Given the description of an element on the screen output the (x, y) to click on. 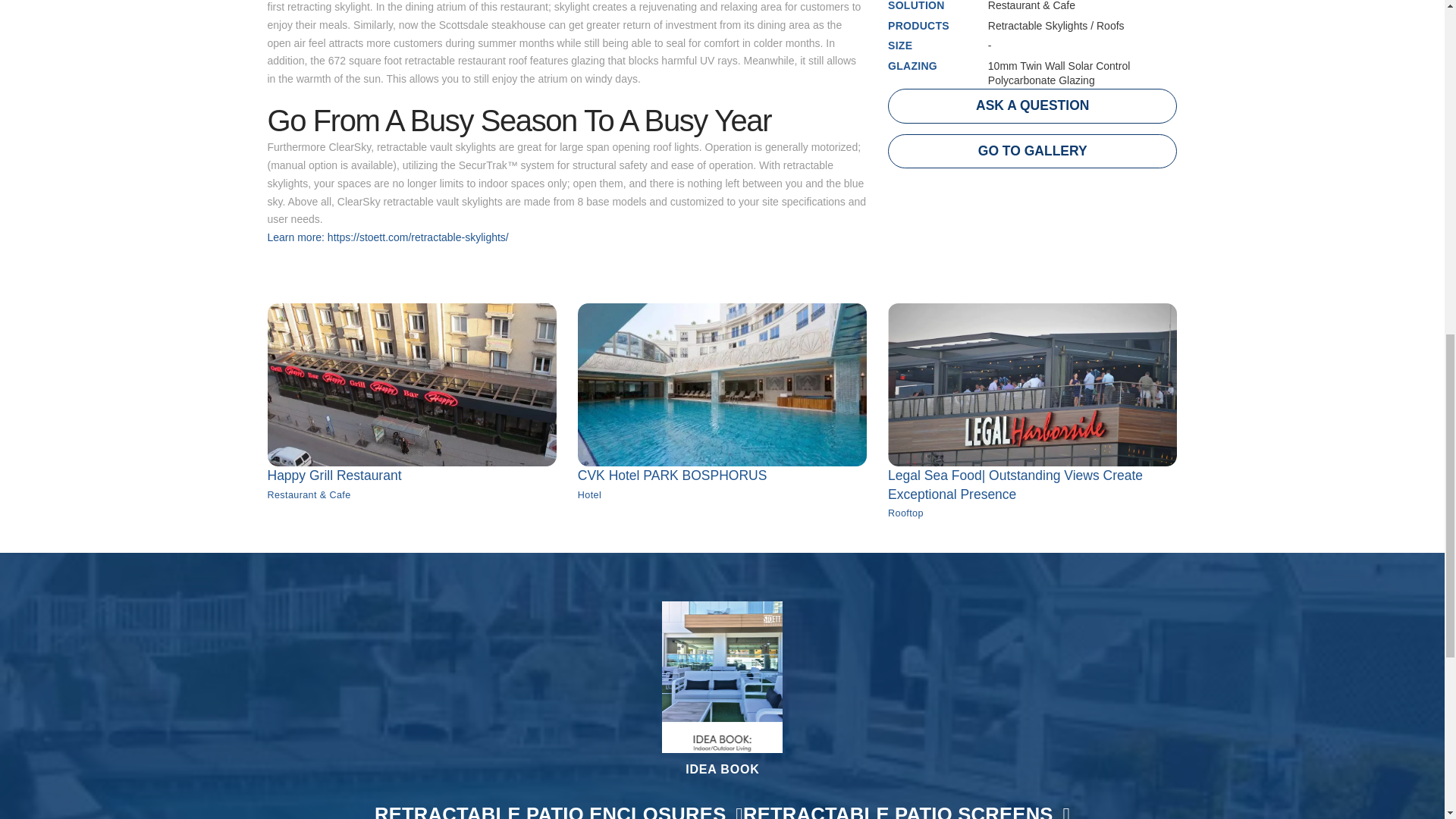
ASK A QUESTION (1032, 105)
RETRACTABLE PATIO SCREENS (906, 808)
GO TO GALLERY (1032, 150)
RETRACTABLE PATIO ENCLOSURES (558, 808)
IDEA BOOK (722, 410)
